Given the description of an element on the screen output the (x, y) to click on. 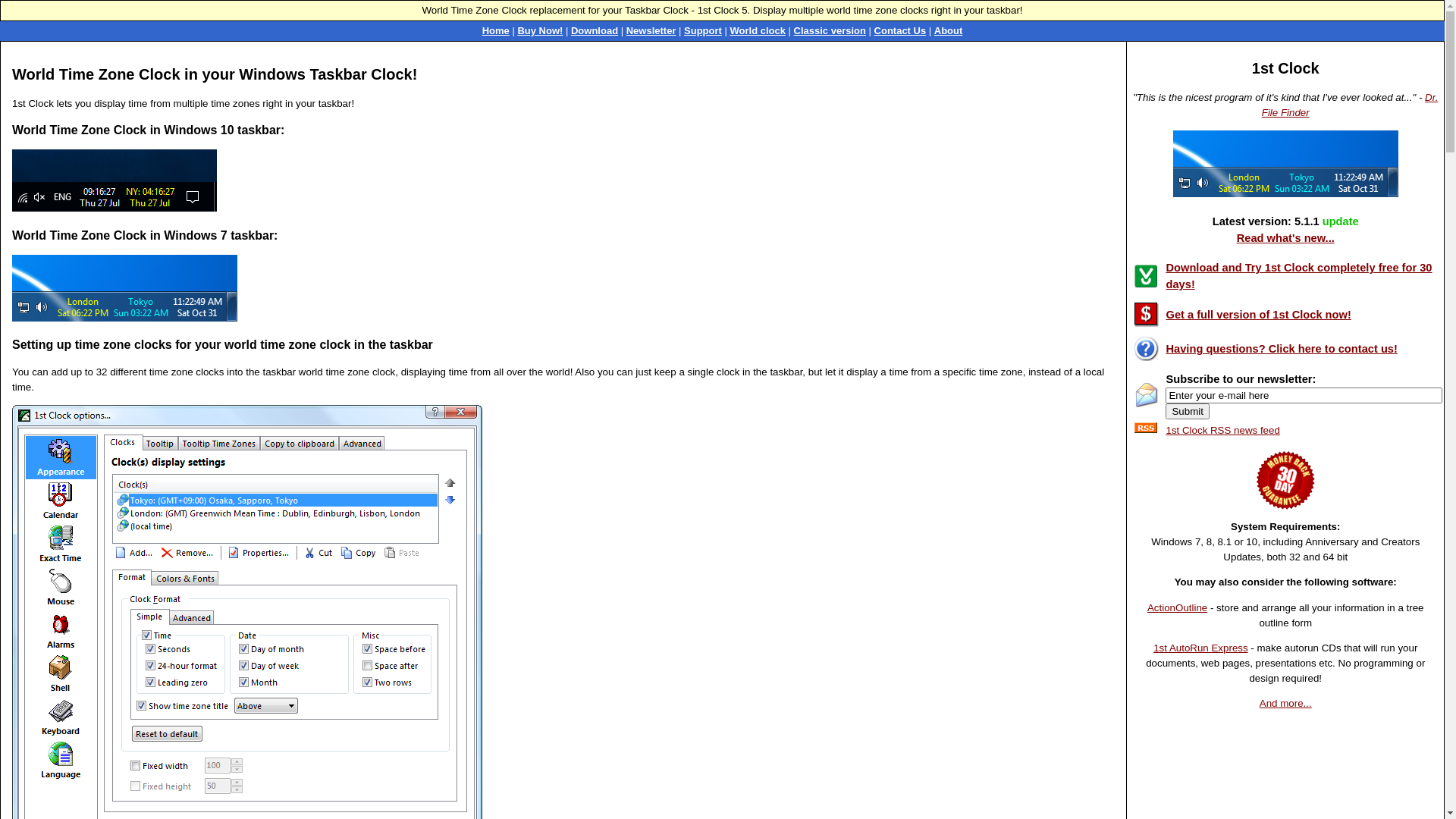
Classic version Element type: text (829, 30)
About Element type: text (948, 30)
Download and Try 1st Clock completely free for 30 days! Element type: text (1298, 275)
Buy Now! Element type: text (539, 30)
Submit Element type: text (1186, 411)
Dr. File Finder Element type: text (1349, 104)
Having questions? Click here to contact us! Element type: text (1280, 348)
Get a full version of 1st Clock now! Element type: text (1257, 314)
1st Clock RSS news feed Element type: text (1222, 430)
Newsletter Element type: text (651, 30)
Download Element type: text (594, 30)
And more... Element type: text (1285, 703)
1st AutoRun Express Element type: text (1200, 647)
Read what's new... Element type: text (1285, 238)
Contact Us Element type: text (900, 30)
World clock Element type: text (756, 30)
Home Element type: text (495, 30)
ActionOutline Element type: text (1177, 607)
Support Element type: text (702, 30)
